Given the description of an element on the screen output the (x, y) to click on. 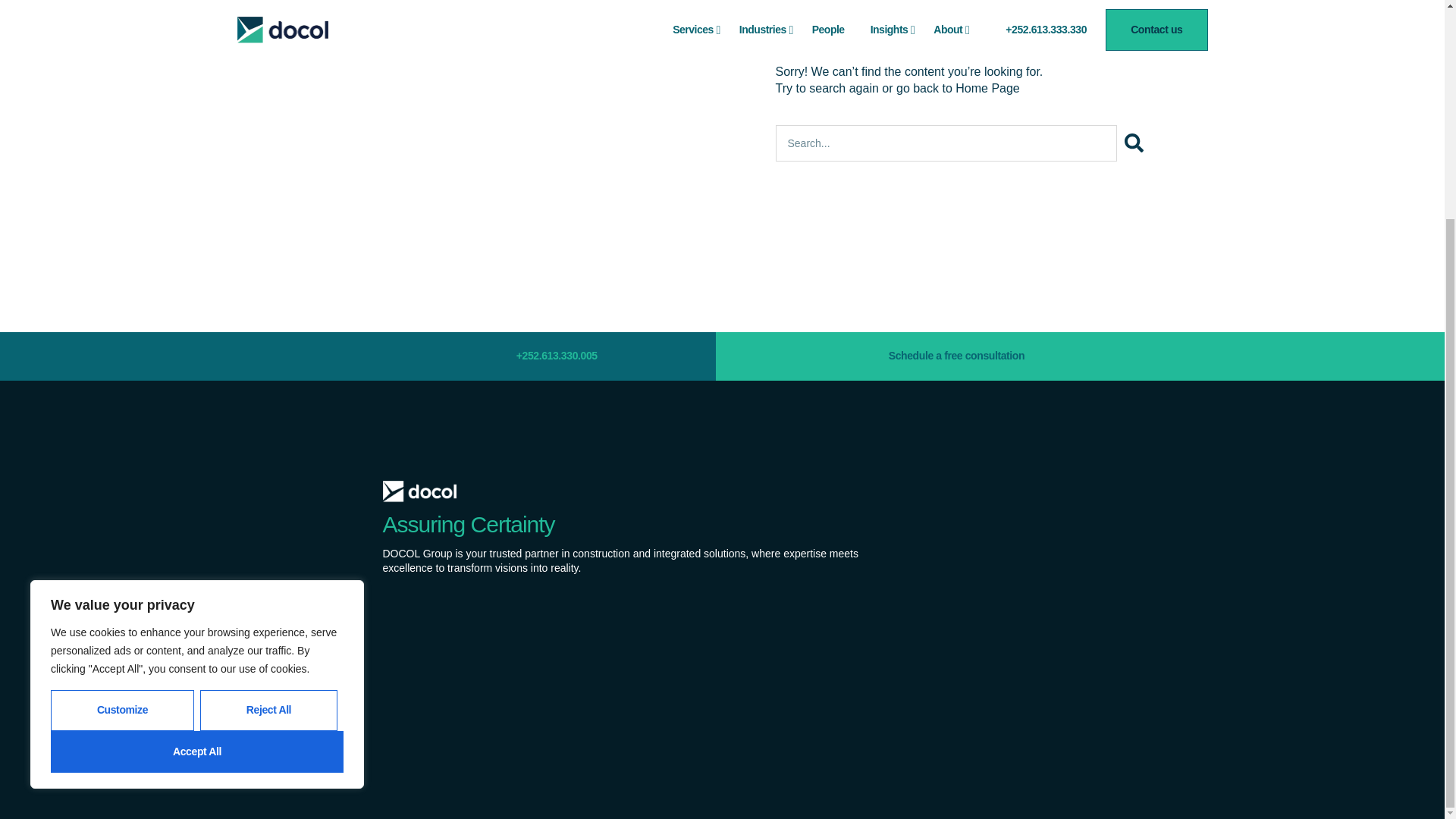
Reject All (268, 422)
Accept All (196, 463)
Customize (121, 422)
